Given the description of an element on the screen output the (x, y) to click on. 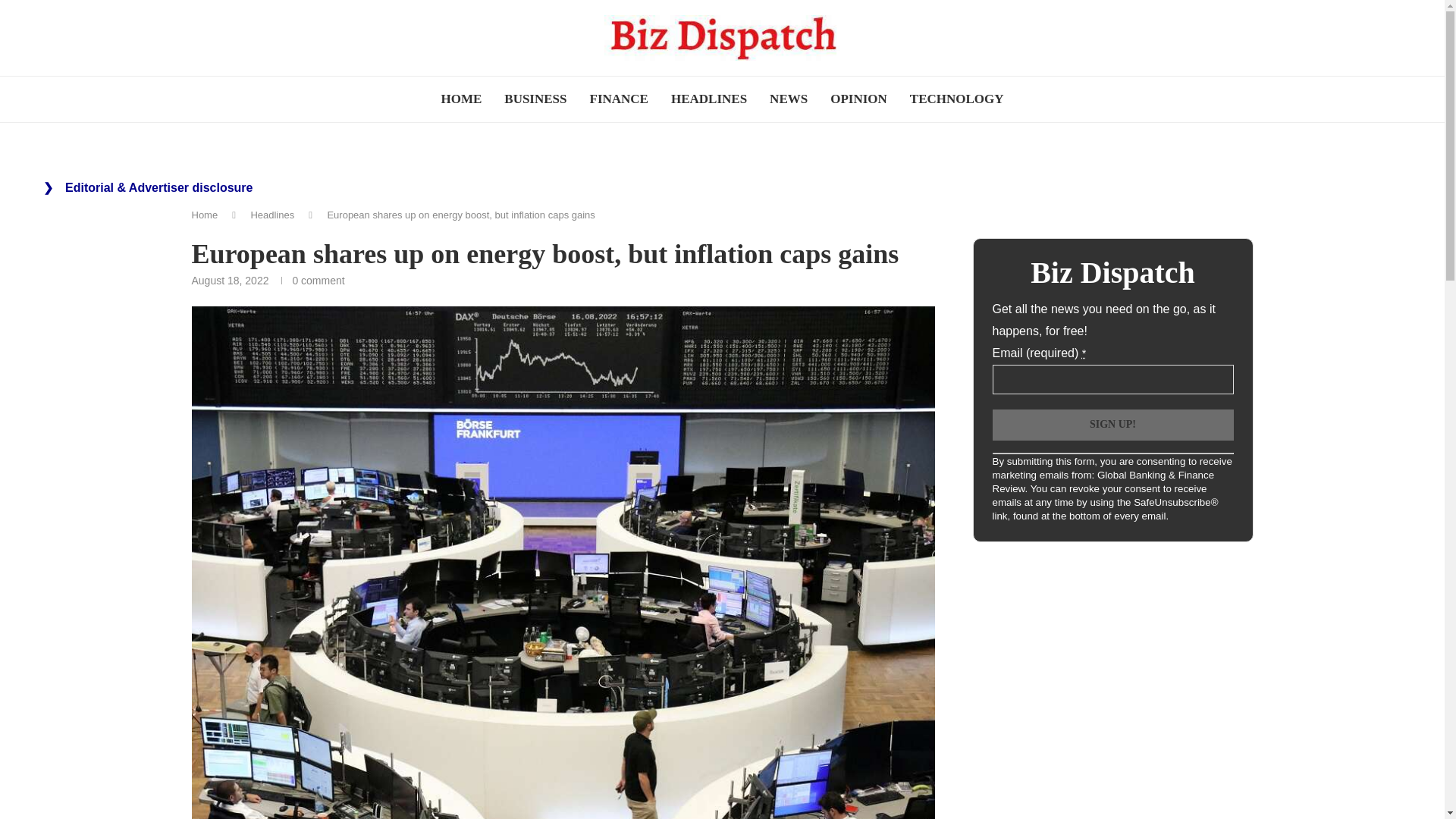
OPINION (858, 99)
FINANCE (618, 99)
HEADLINES (708, 99)
TECHNOLOGY (956, 99)
Headlines (272, 214)
Sign up! (1112, 424)
Home (203, 214)
BUSINESS (535, 99)
HOME (461, 99)
